Given the description of an element on the screen output the (x, y) to click on. 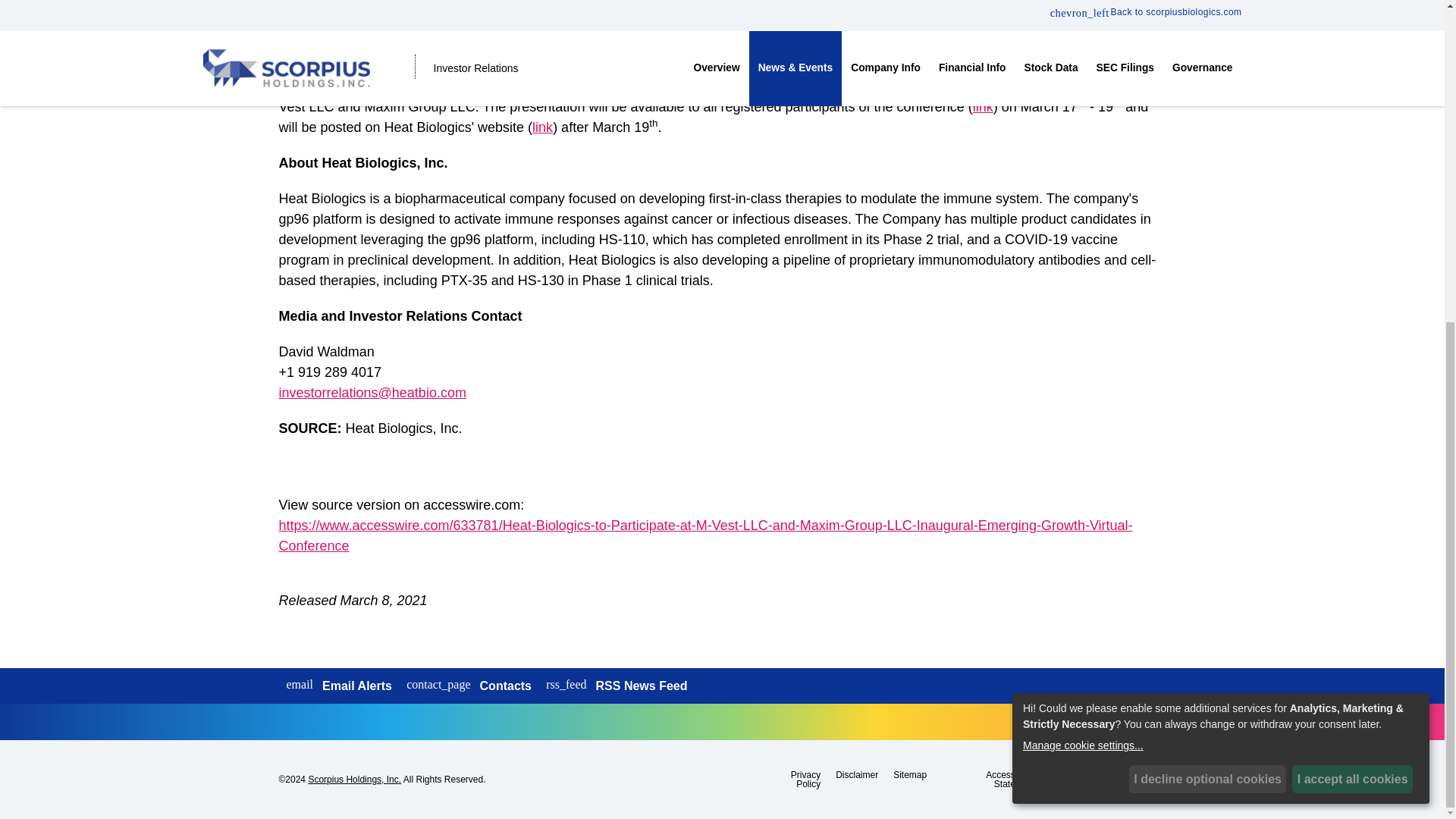
Manage cookie settings... (1218, 220)
I accept all cookies (1352, 254)
I decline optional cookies (1208, 254)
Opens in a new window (616, 685)
